Given the description of an element on the screen output the (x, y) to click on. 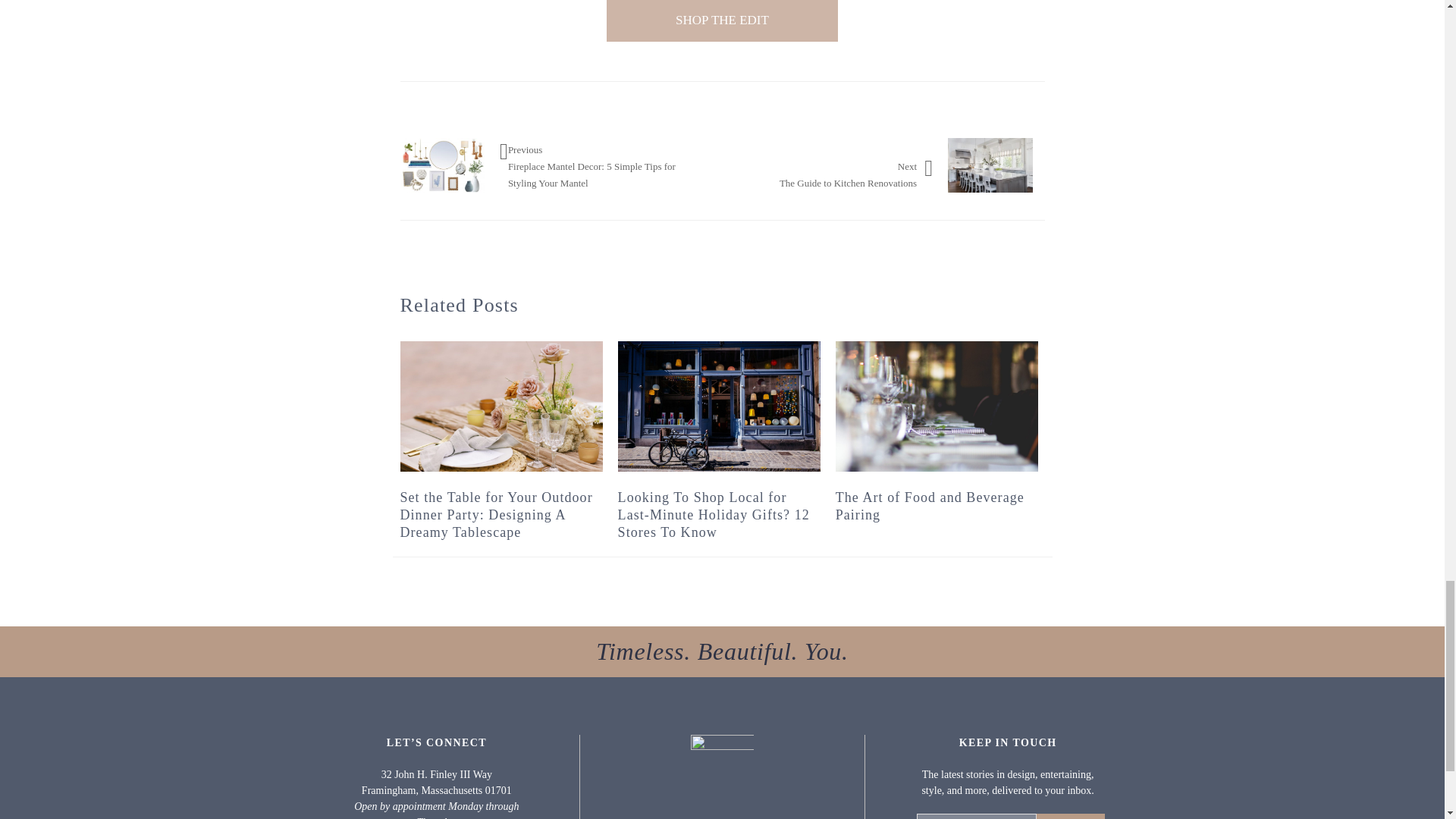
The Art of Food and Beverage Pairing (936, 406)
The Art of Food and Beverage Pairing (930, 505)
Sign Up (1070, 816)
